Given the description of an element on the screen output the (x, y) to click on. 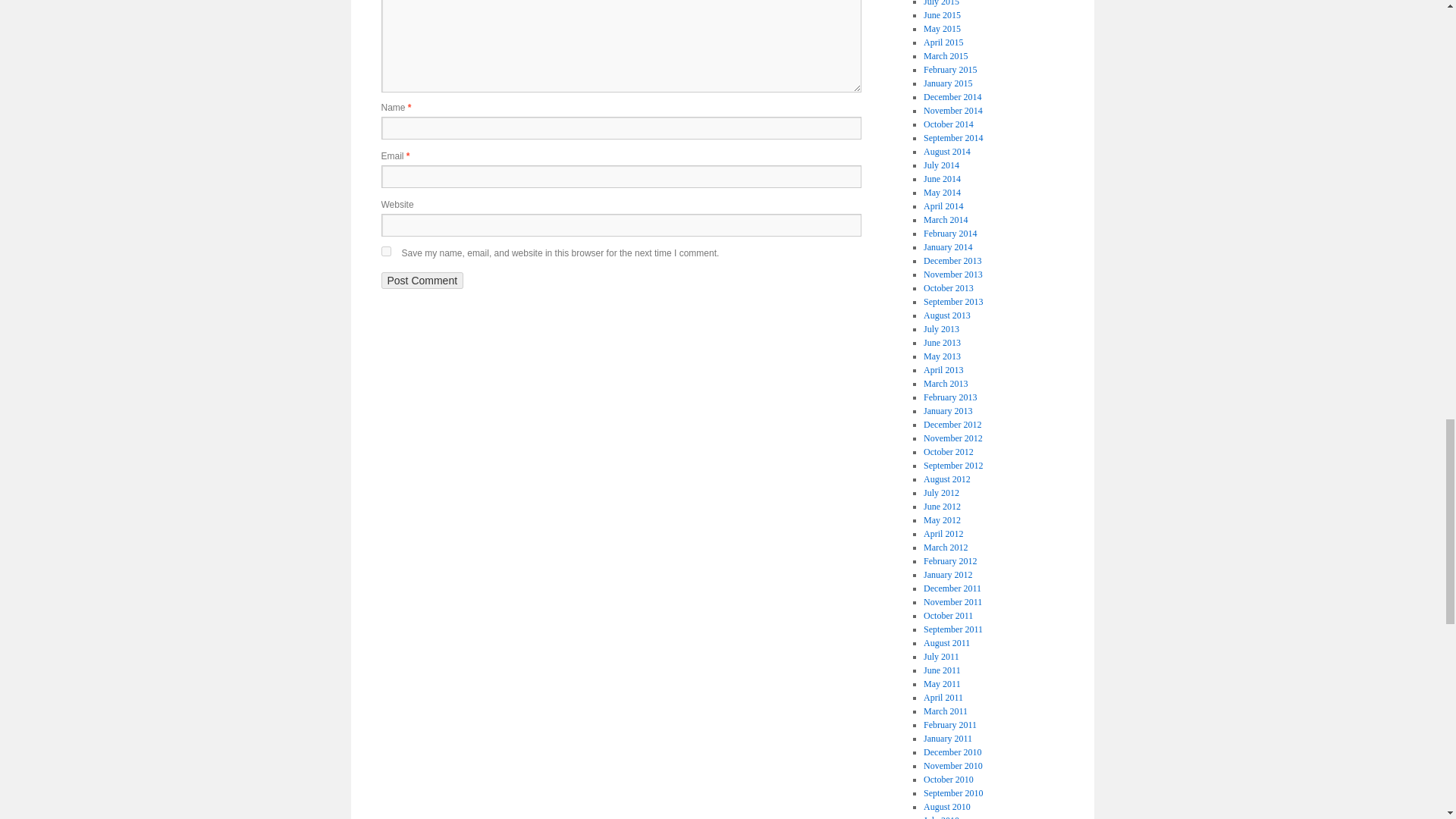
yes (385, 251)
Post Comment (421, 280)
Post Comment (421, 280)
